Given the description of an element on the screen output the (x, y) to click on. 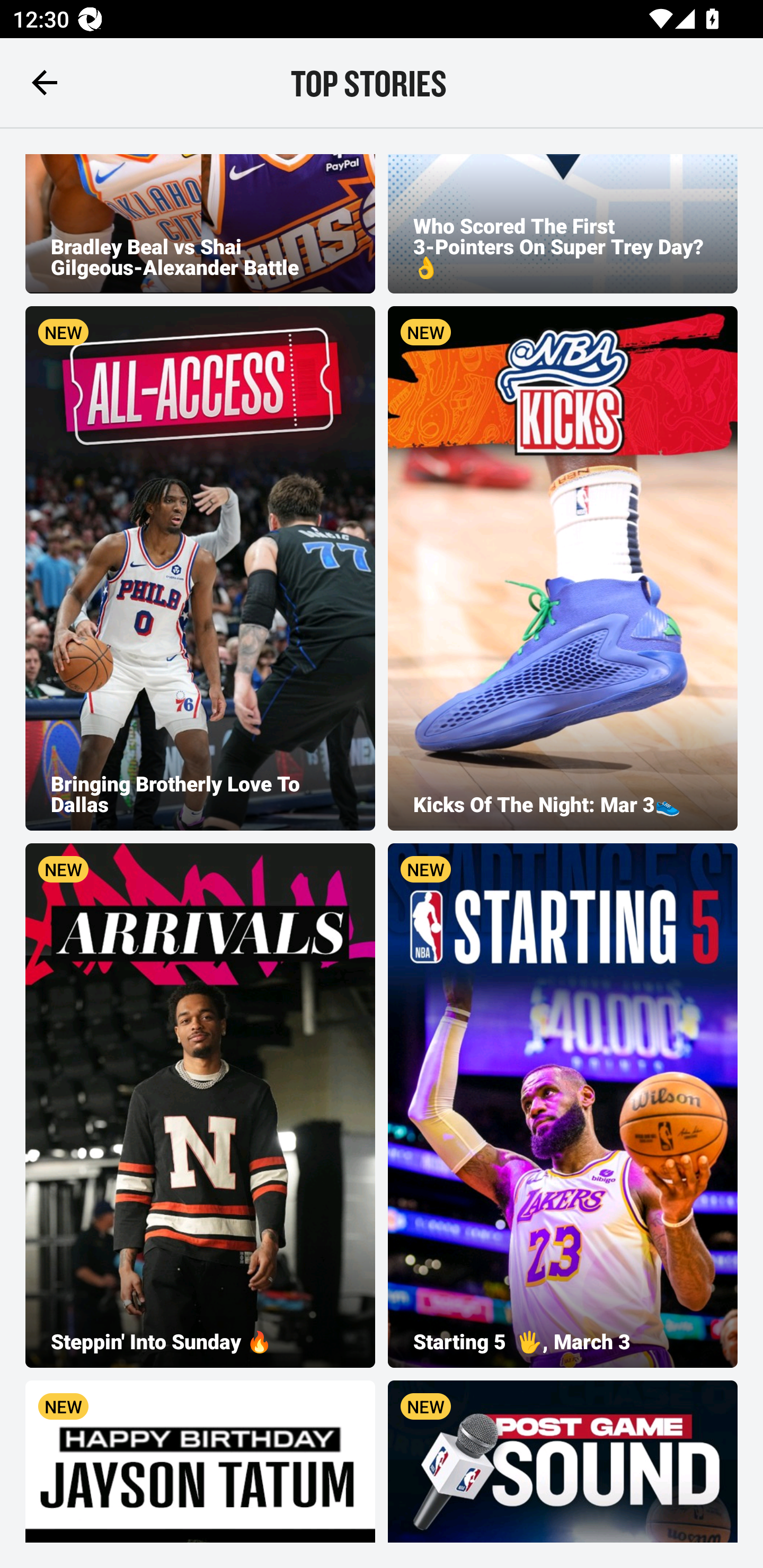
Navigate up (44, 82)
Bradley Beal vs Shai Gilgeous-Alexander Battle (200, 223)
NEW Bringing Brotherly Love To Dallas (200, 568)
NEW Kicks Of The Night: Mar 3👟 (562, 568)
NEW Steppin' Into Sunday 🔥 (200, 1105)
NEW Starting 5  🖐️, March 3 (562, 1105)
